Given the description of an element on the screen output the (x, y) to click on. 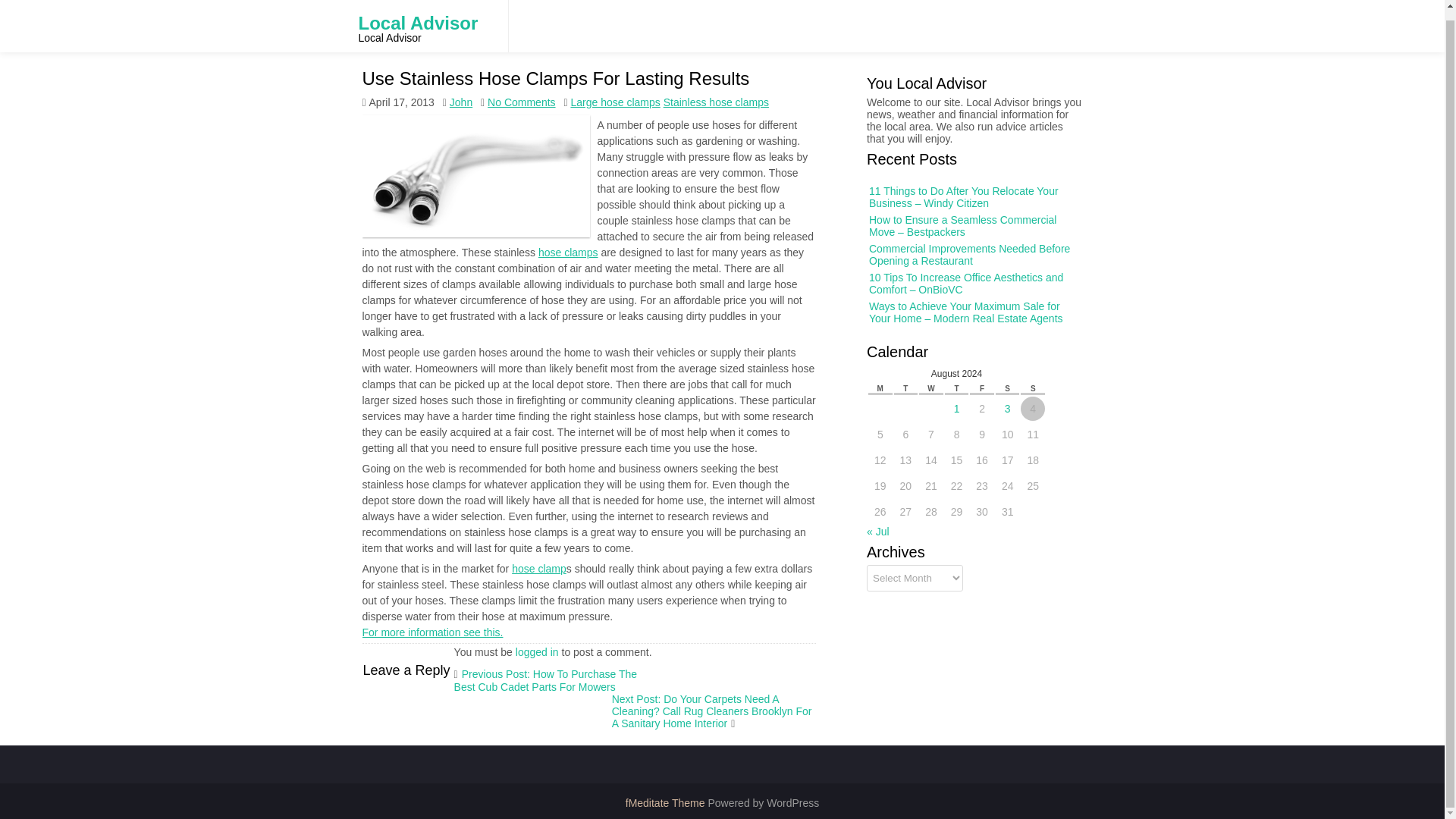
Sunday (1029, 386)
more (581, 252)
Thursday (958, 385)
Posts by John (460, 81)
No Comments (520, 102)
fMeditate Theme (666, 802)
Large hose clamps (614, 102)
Wednesday (935, 385)
more like it (425, 632)
Large hose clamps, Stainless hose clamps (540, 568)
Friday (981, 385)
Commercial Improvements Needed Before Opening a Restaurant (1002, 282)
John (460, 102)
logged in (537, 652)
